Given the description of an element on the screen output the (x, y) to click on. 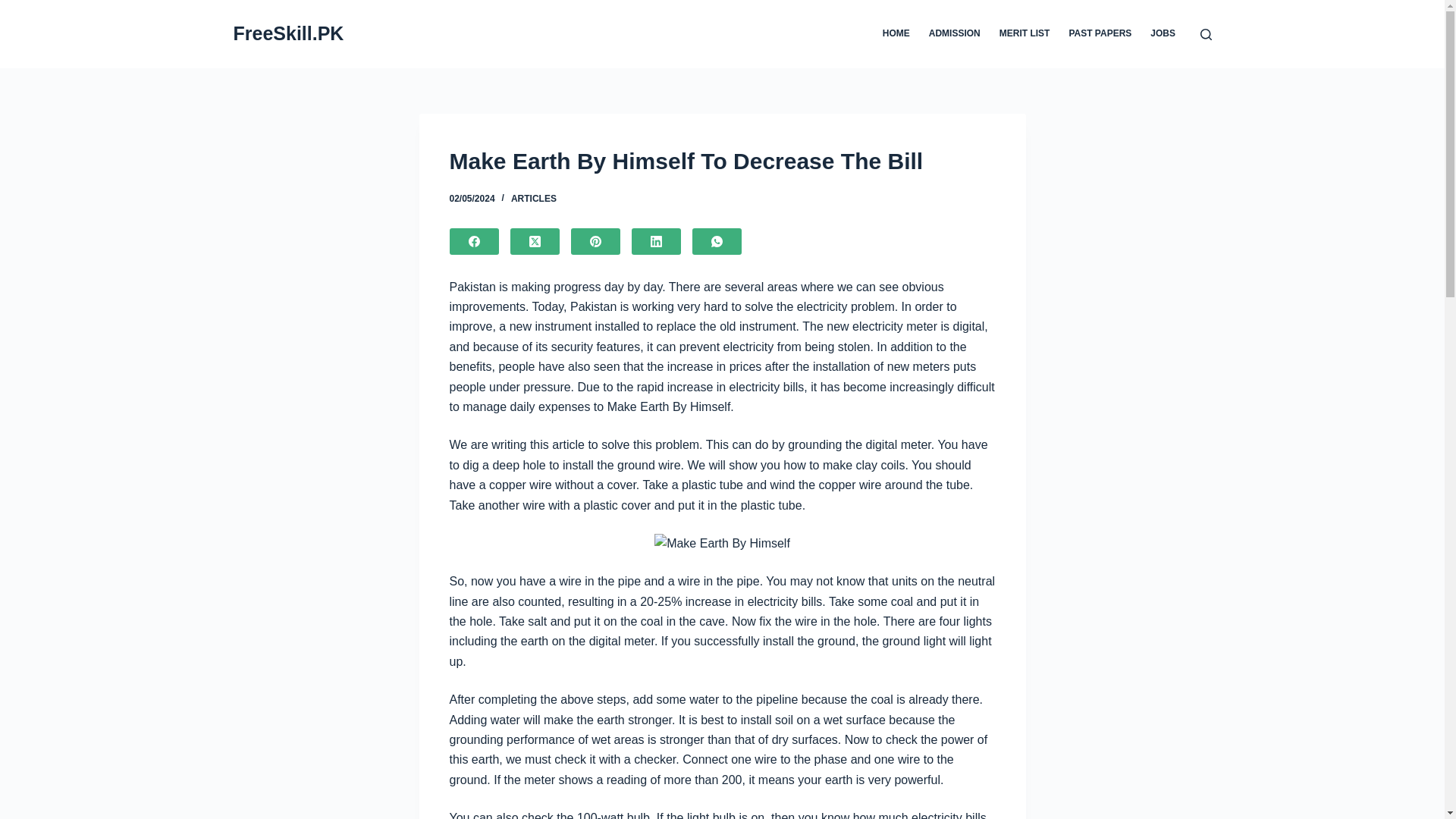
Skip to content (15, 7)
ADMISSION (954, 33)
MERIT LIST (1024, 33)
FreeSkill.PK (287, 33)
Make Earth By Himself To Decrease The Bill (721, 161)
ARTICLES (533, 198)
PAST PAPERS (1100, 33)
